Given the description of an element on the screen output the (x, y) to click on. 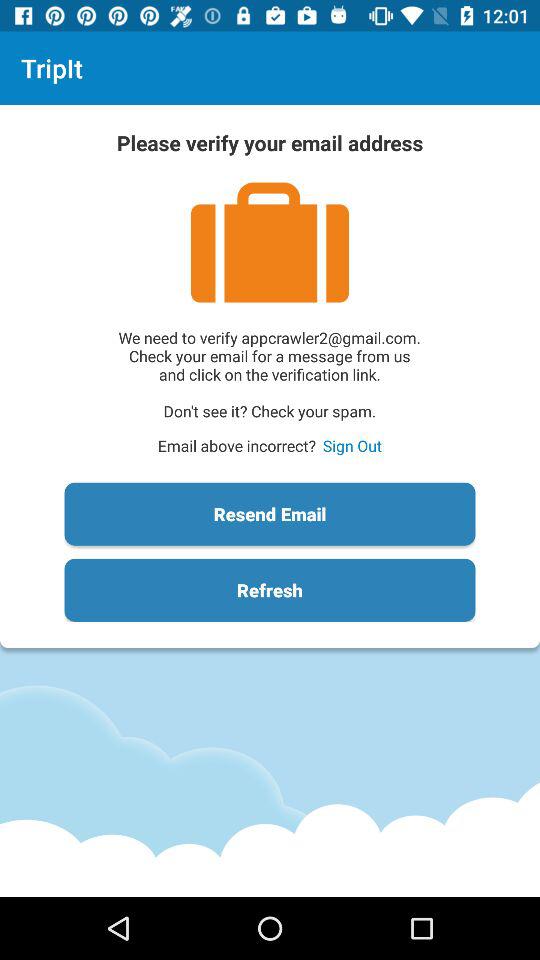
swipe to sign out icon (352, 445)
